Given the description of an element on the screen output the (x, y) to click on. 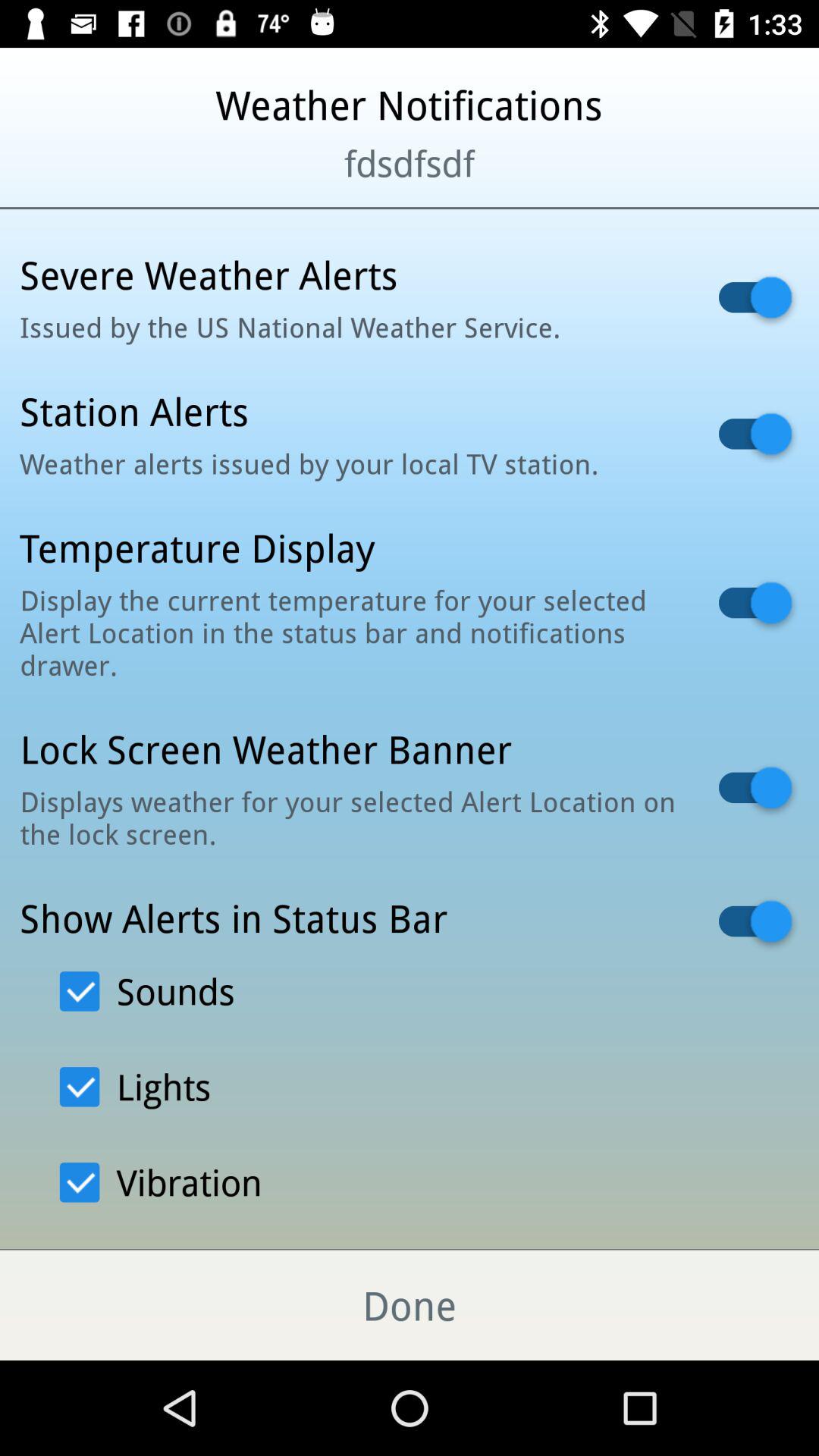
swipe to displays weather for (349, 817)
